Given the description of an element on the screen output the (x, y) to click on. 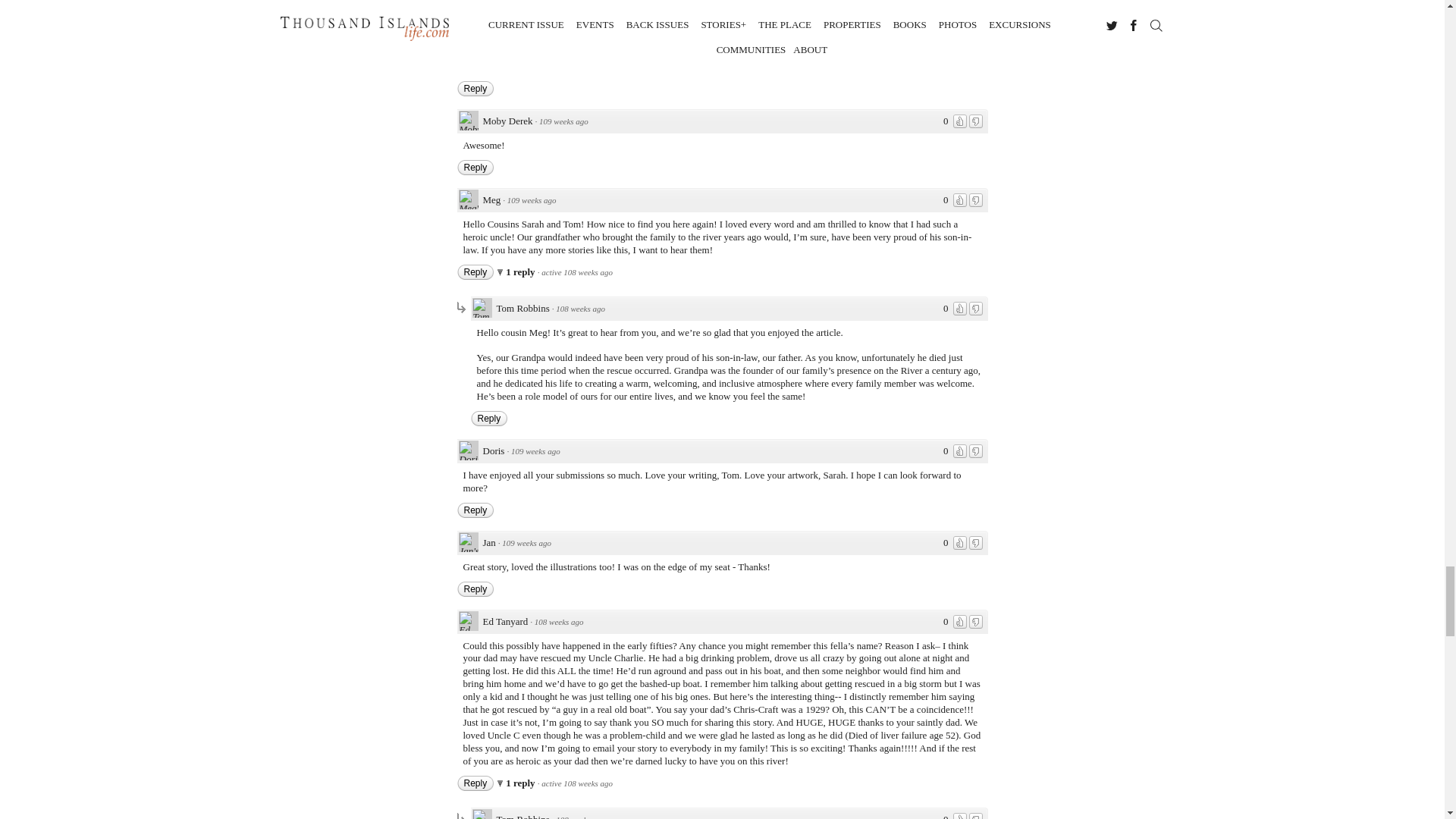
Comment Permalink (580, 307)
Comment Permalink (580, 816)
Comment Permalink (535, 450)
Comment Permalink (558, 621)
Comment Permalink (531, 199)
Comment Permalink (526, 542)
Comment Permalink (544, 4)
Comment Permalink (563, 121)
